Given the description of an element on the screen output the (x, y) to click on. 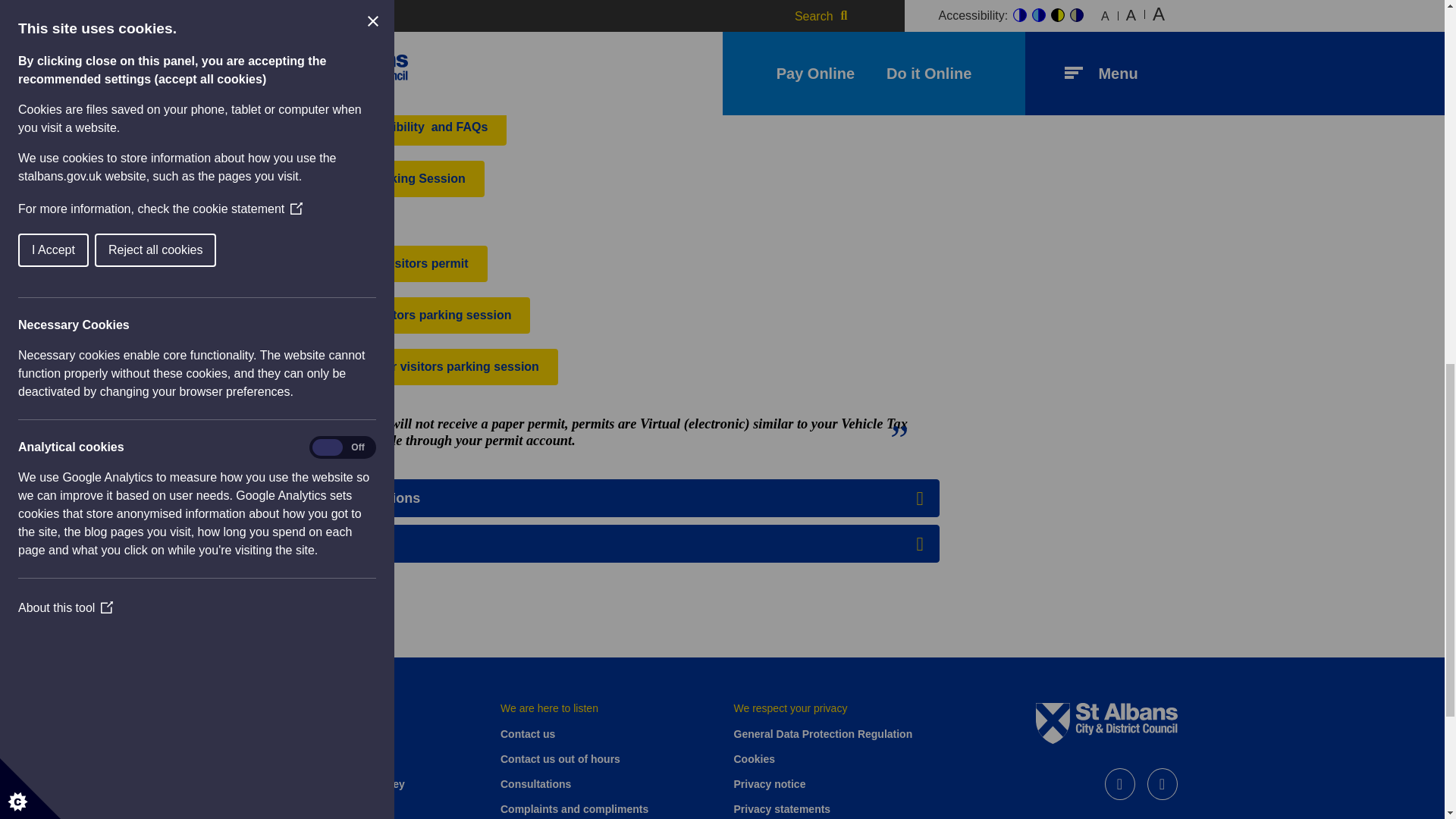
How to book a visitor parking session video guide (397, 315)
How to top up visitor parking session (411, 366)
On Street Charges (527, 23)
Book a Visitor Parking Session  (374, 178)
How to apply for permits Video Guide (376, 263)
Apply for Visitor Parking Permits (380, 75)
St Albans City and District Council Address (335, 784)
